Given the description of an element on the screen output the (x, y) to click on. 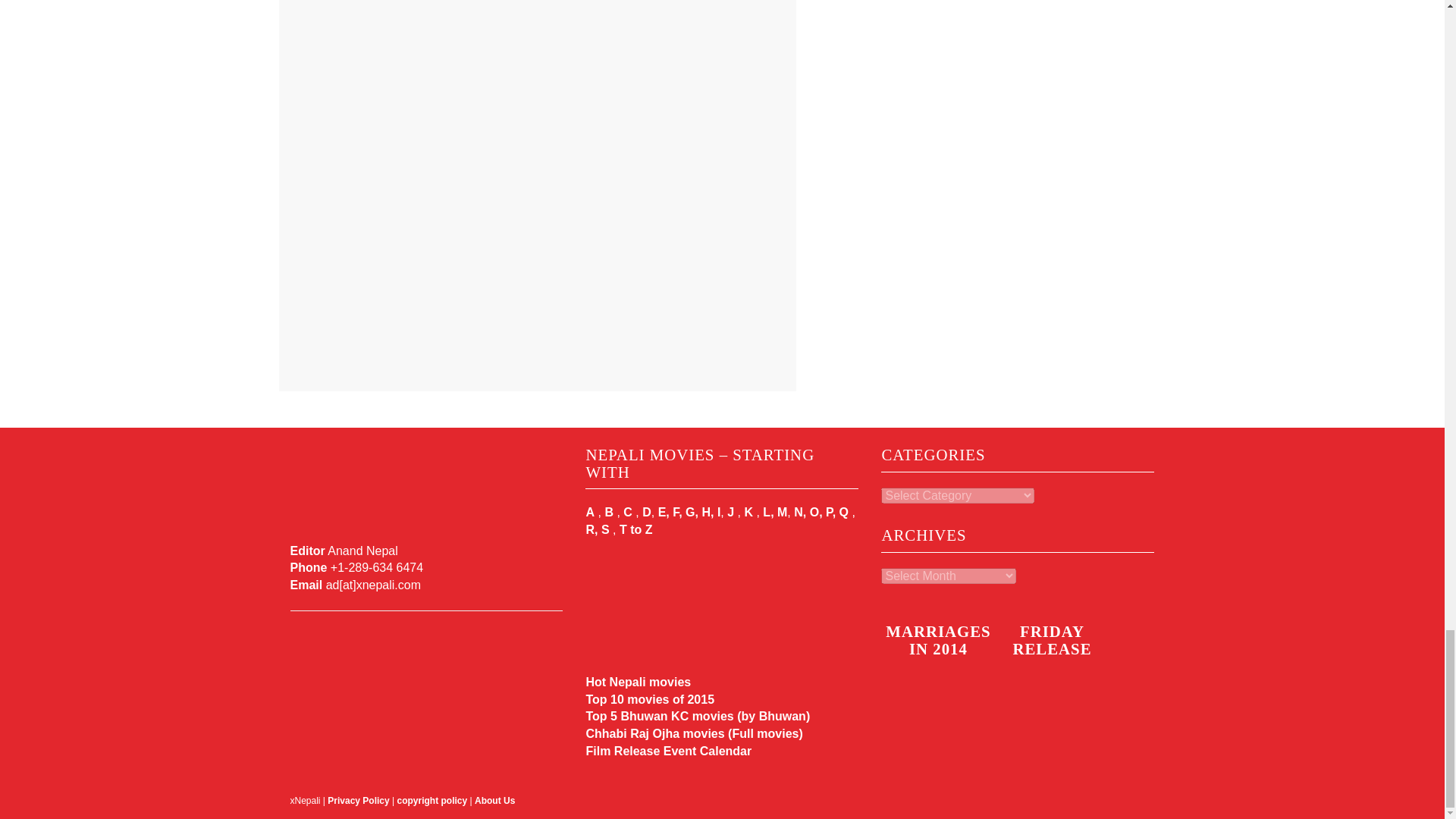
Learn how your comment data is processed (620, 350)
friday release (1051, 702)
